Given the description of an element on the screen output the (x, y) to click on. 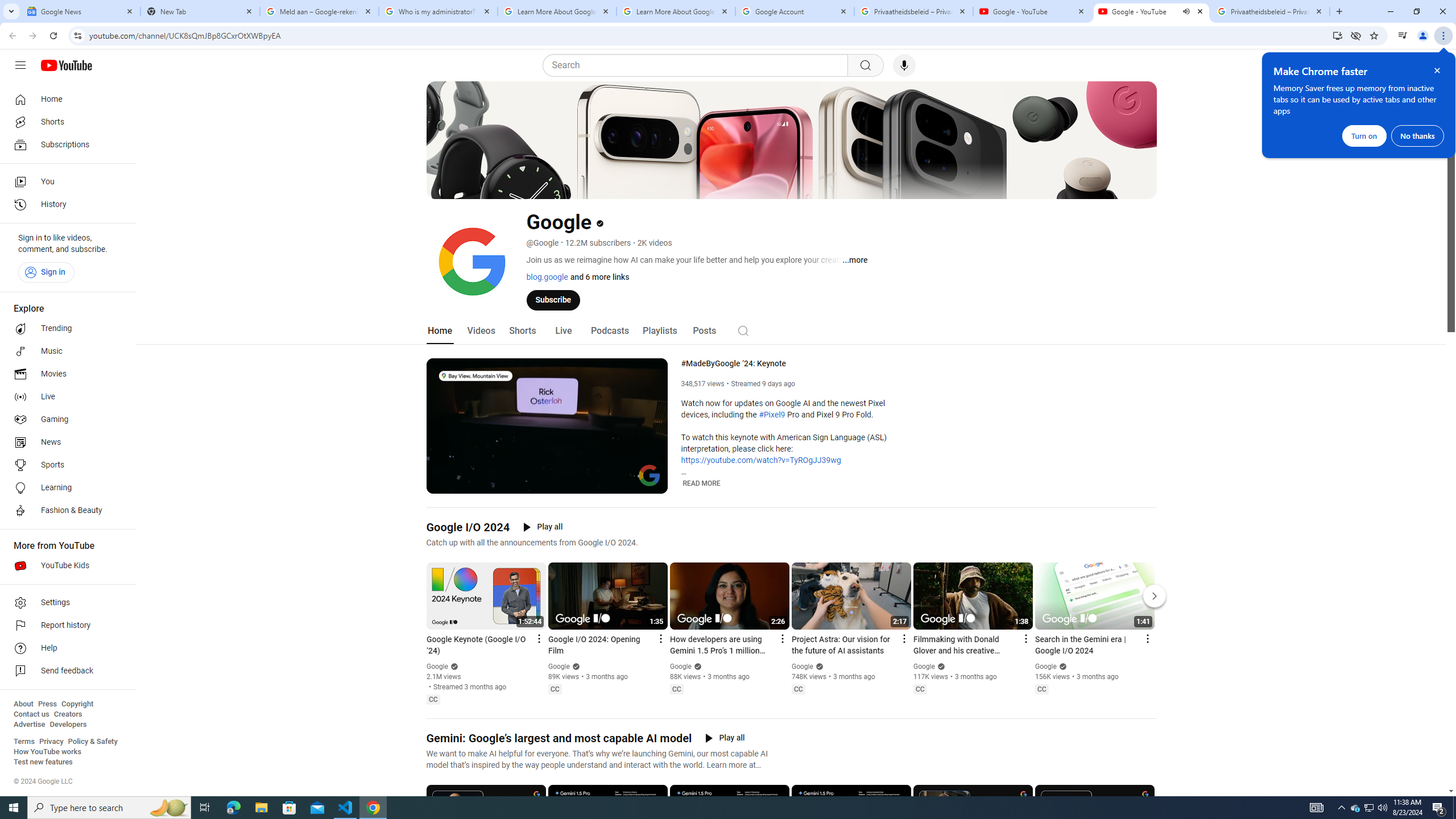
Advertise (29, 724)
Guide (20, 65)
New Tab (199, 11)
Closed captions (1041, 688)
Google I/O 2024 (467, 526)
YouTube Kids (64, 565)
Mute (m) (463, 483)
Creators (67, 714)
Turn on (1364, 135)
Full screen (f) (650, 483)
